Given the description of an element on the screen output the (x, y) to click on. 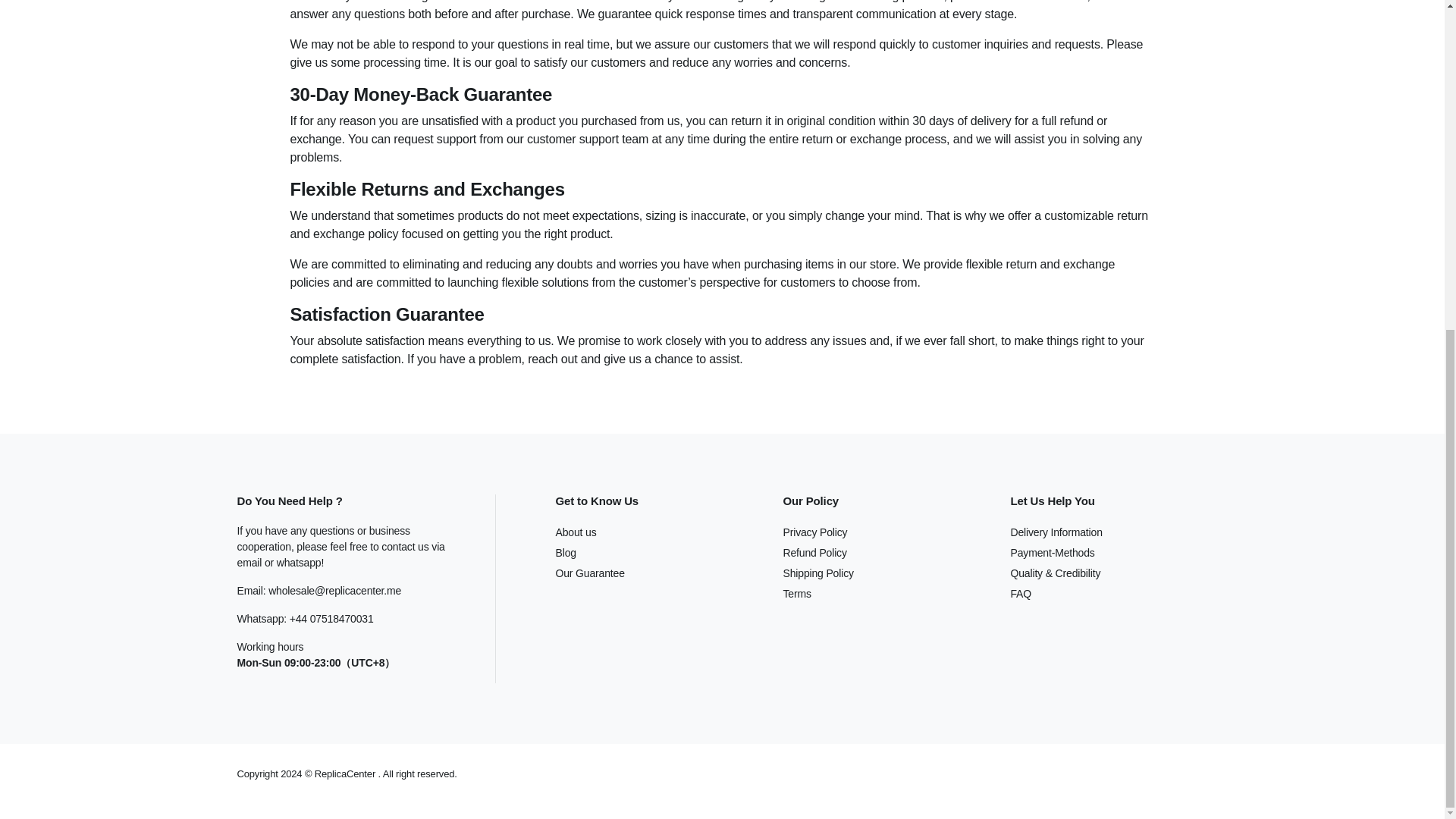
Terms (796, 593)
FAQ (1020, 593)
Payment-Methods (1052, 552)
Shipping Policy (818, 572)
Refund Policy (814, 552)
Privacy Policy (815, 531)
Delivery Information (1056, 531)
About us (574, 531)
Our Guarantee (589, 572)
Blog (564, 552)
